Given the description of an element on the screen output the (x, y) to click on. 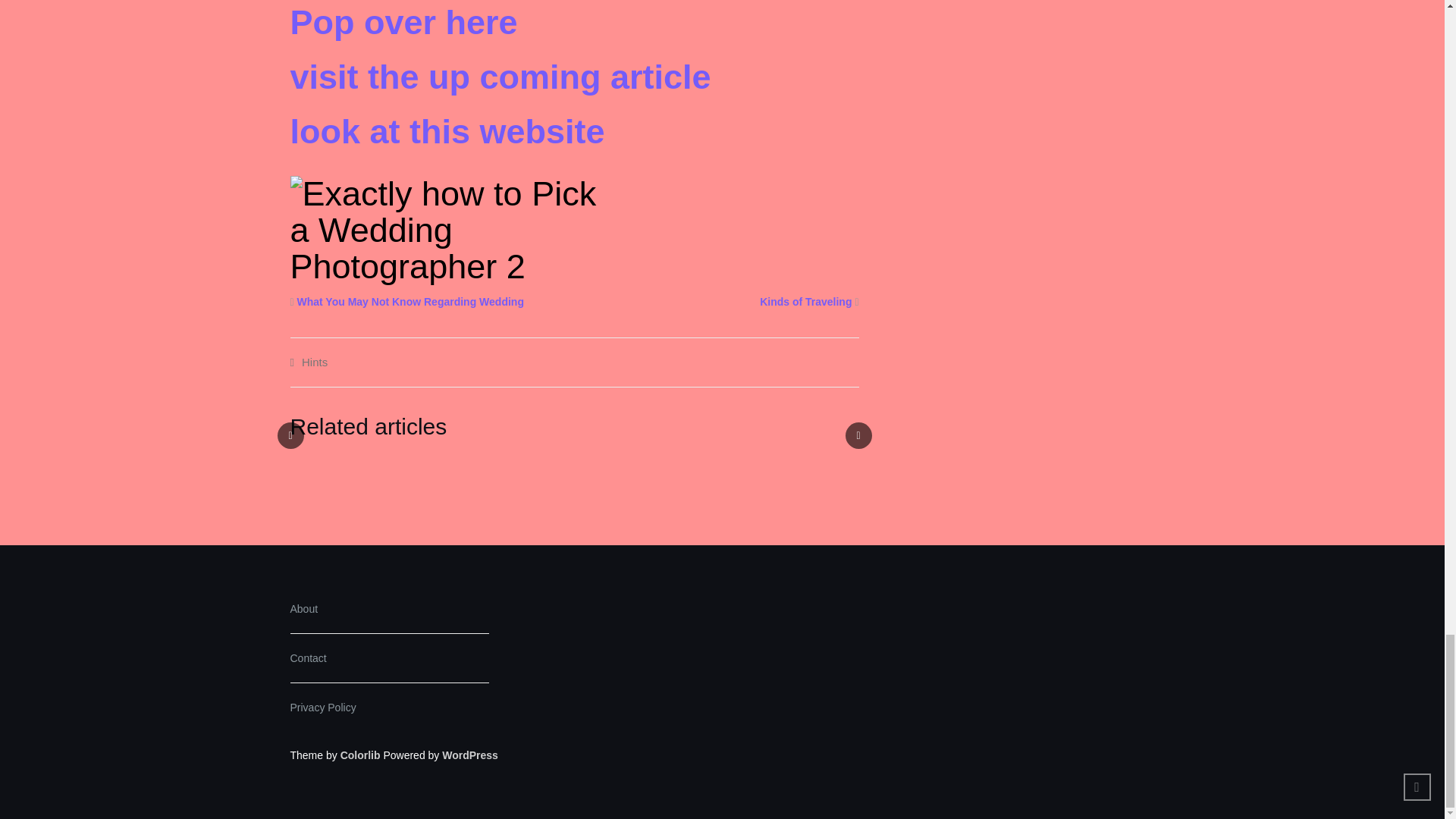
Kinds of Traveling (805, 301)
Hints (314, 361)
visit the up coming article (499, 76)
What You May Not Know Regarding Wedding (410, 301)
Pop over here (402, 22)
WordPress.org (469, 755)
look at this website (446, 131)
Colorlib (360, 755)
